Given the description of an element on the screen output the (x, y) to click on. 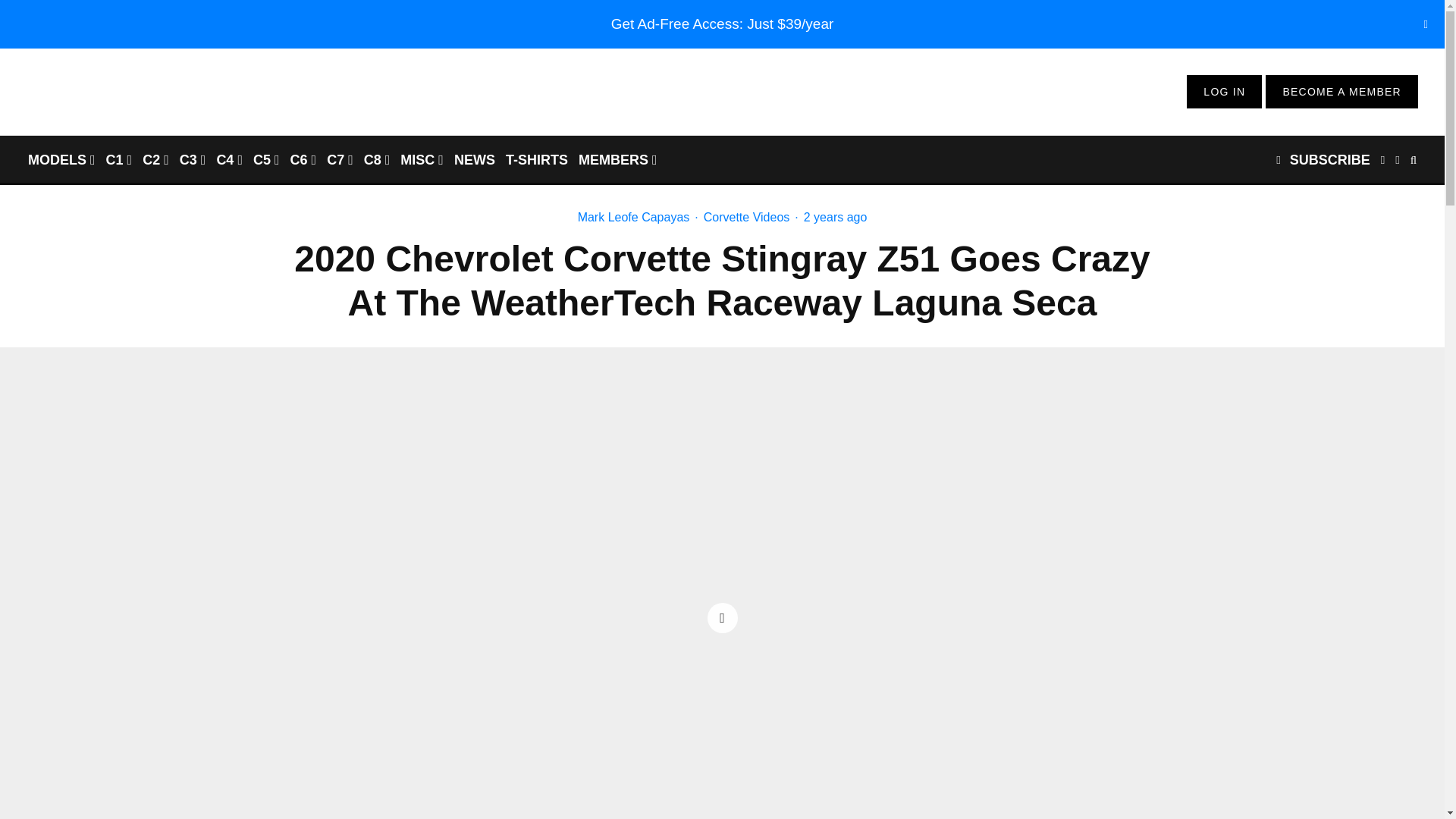
BECOME A MEMBER (1341, 91)
MODELS (61, 159)
LOG IN (1224, 91)
